Given the description of an element on the screen output the (x, y) to click on. 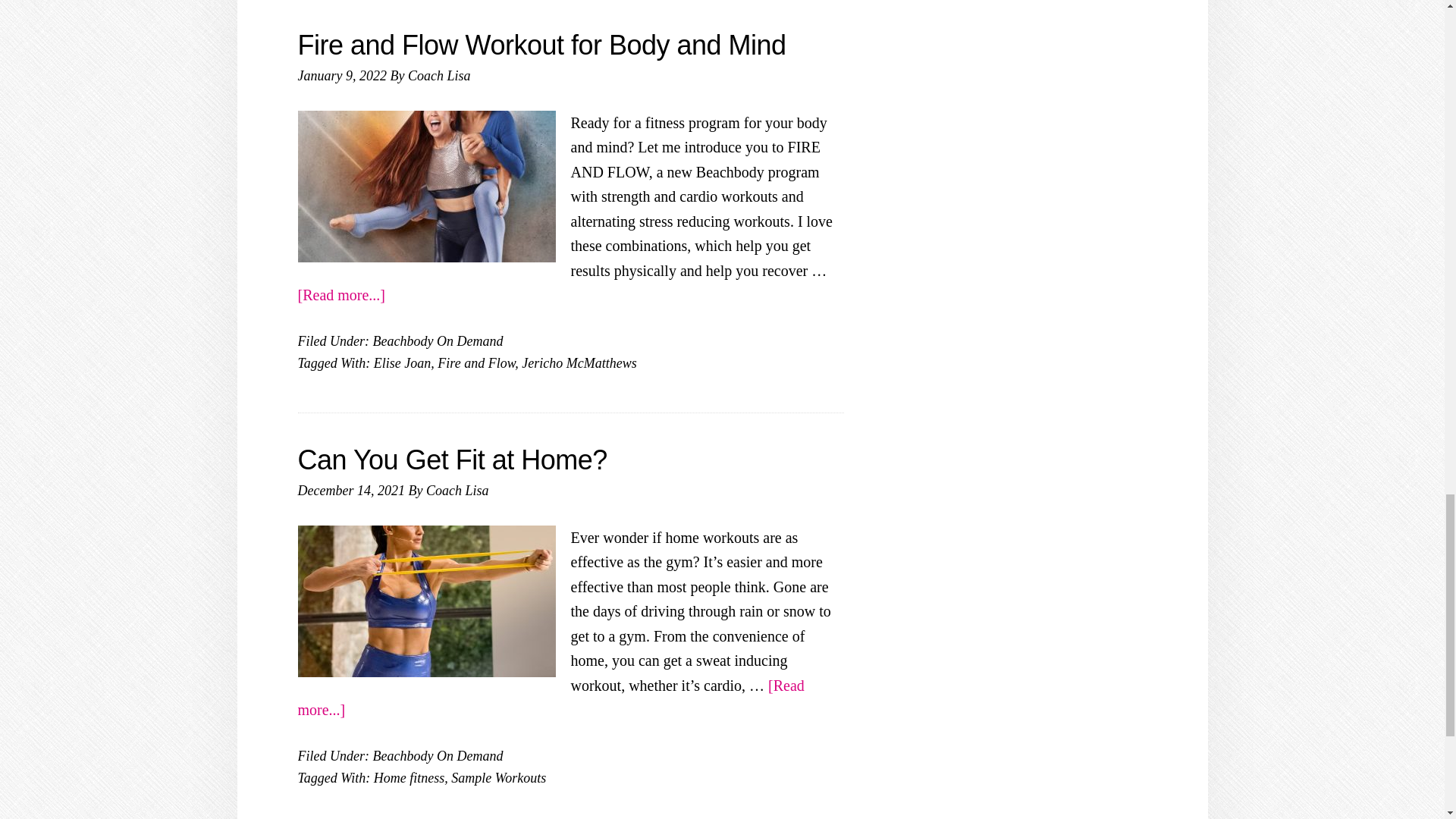
Coach Lisa (438, 75)
Fire and Flow Workout for Body and Mind (541, 44)
Beachbody On Demand (437, 340)
Elise Joan (402, 363)
